Given the description of an element on the screen output the (x, y) to click on. 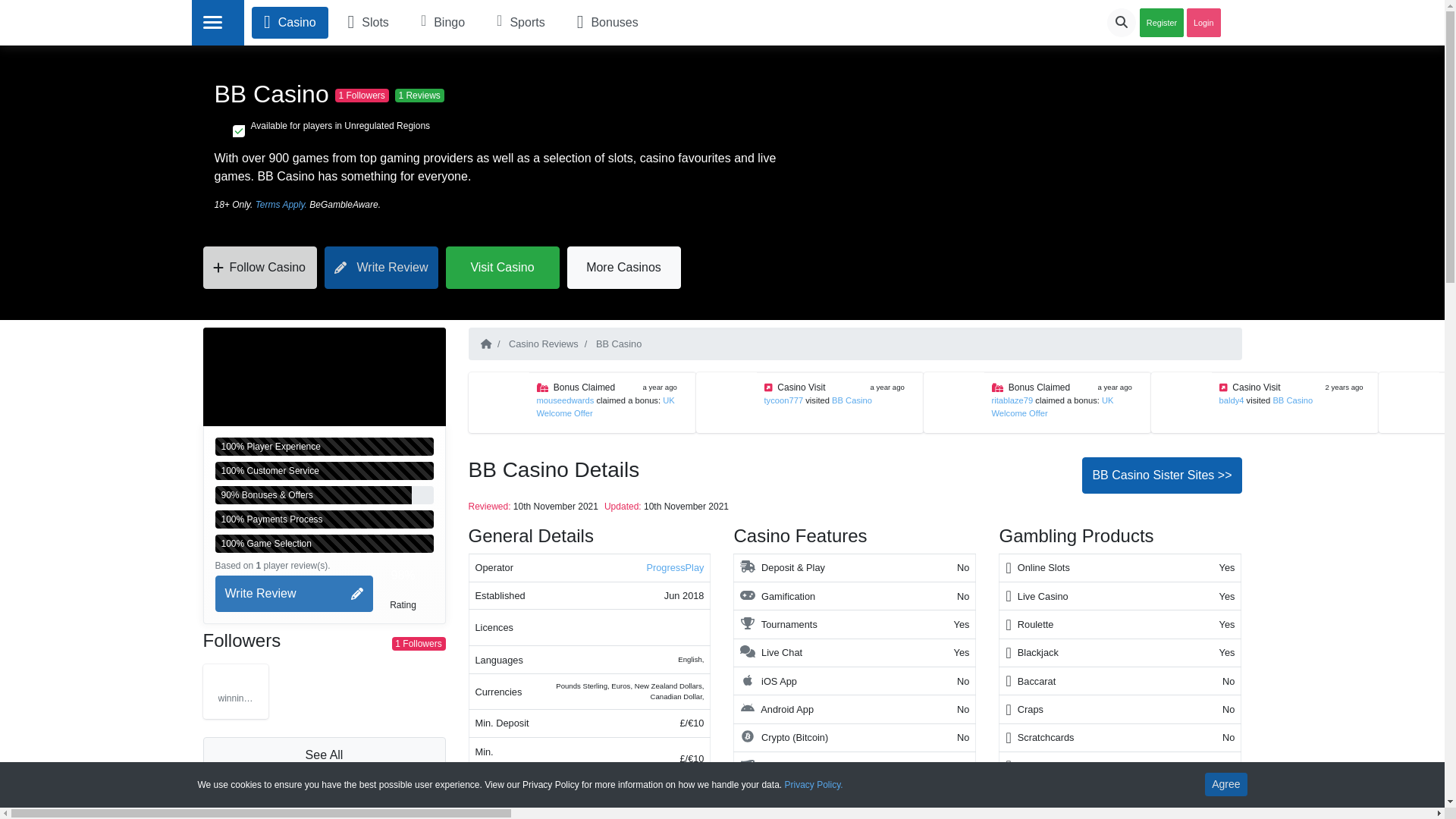
Casino (290, 22)
BB Casino (1292, 399)
UK Welcome Offer (1052, 406)
mouseedwards (566, 399)
Casino Reviews (541, 343)
Bonus Claimed (583, 387)
Casino Visit (1255, 387)
mouseedwards (498, 402)
BB Casino (1292, 399)
Sports (520, 22)
